Given the description of an element on the screen output the (x, y) to click on. 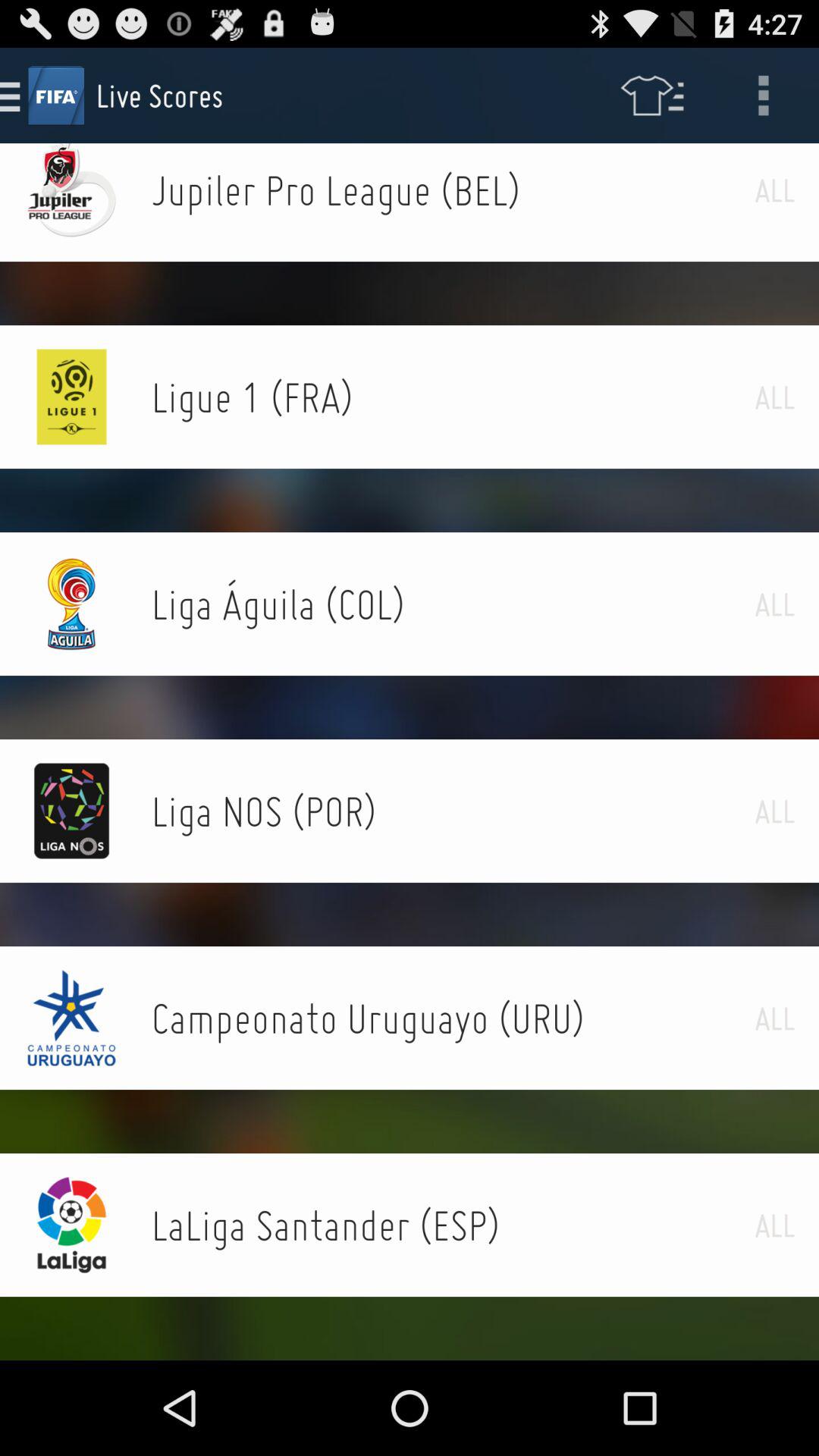
open icon next to the all item (452, 603)
